Given the description of an element on the screen output the (x, y) to click on. 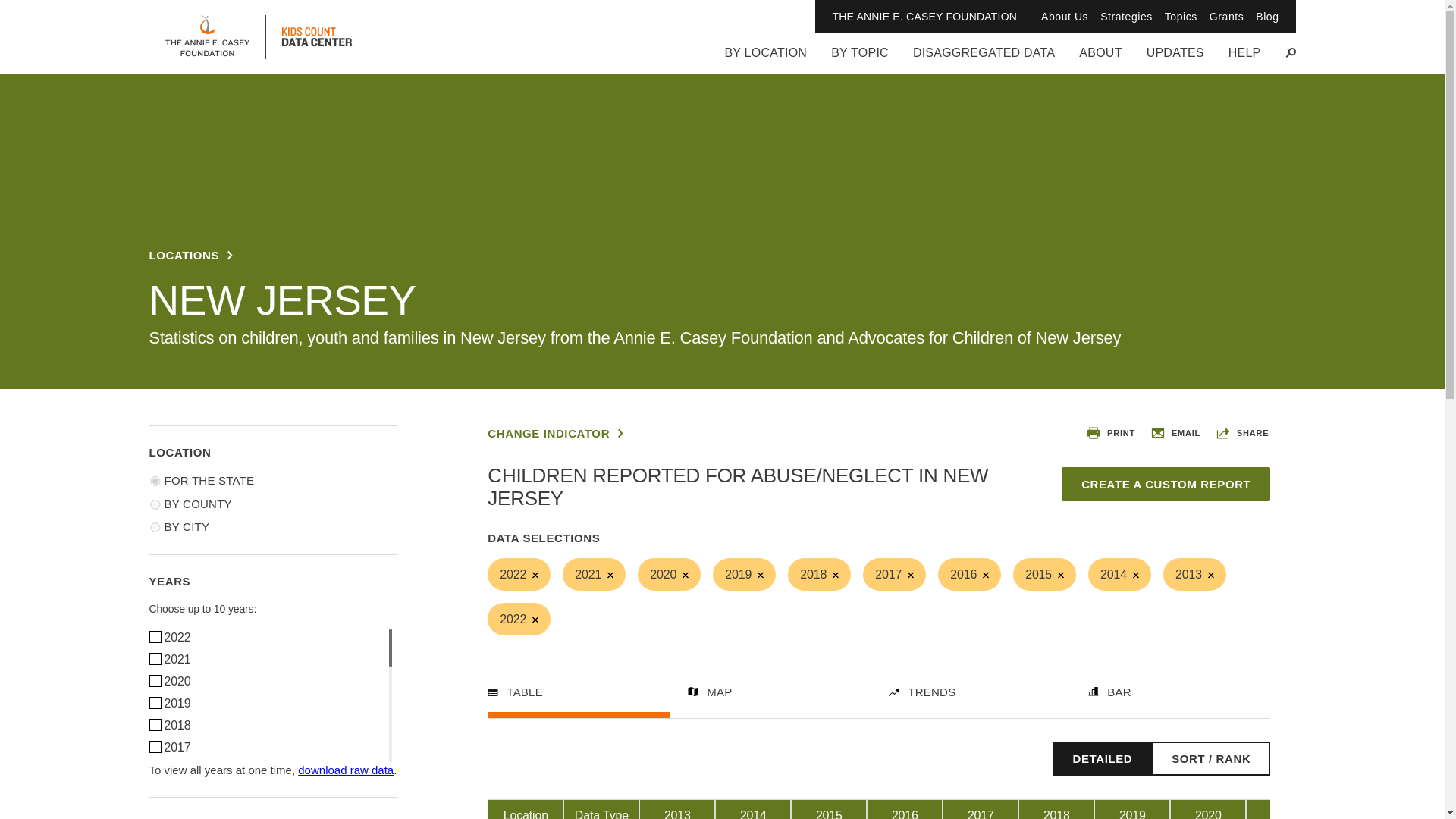
About Us (1064, 16)
Grants (1226, 16)
BY LOCATION (764, 59)
BY TOPIC (859, 59)
LOCATIONS (190, 254)
1095 (154, 636)
3 (154, 527)
2 (154, 480)
Blog (1266, 16)
1729 (154, 702)
2048 (154, 657)
download raw data (345, 768)
5 (154, 503)
DISAGGREGATED DATA (983, 59)
